Given the description of an element on the screen output the (x, y) to click on. 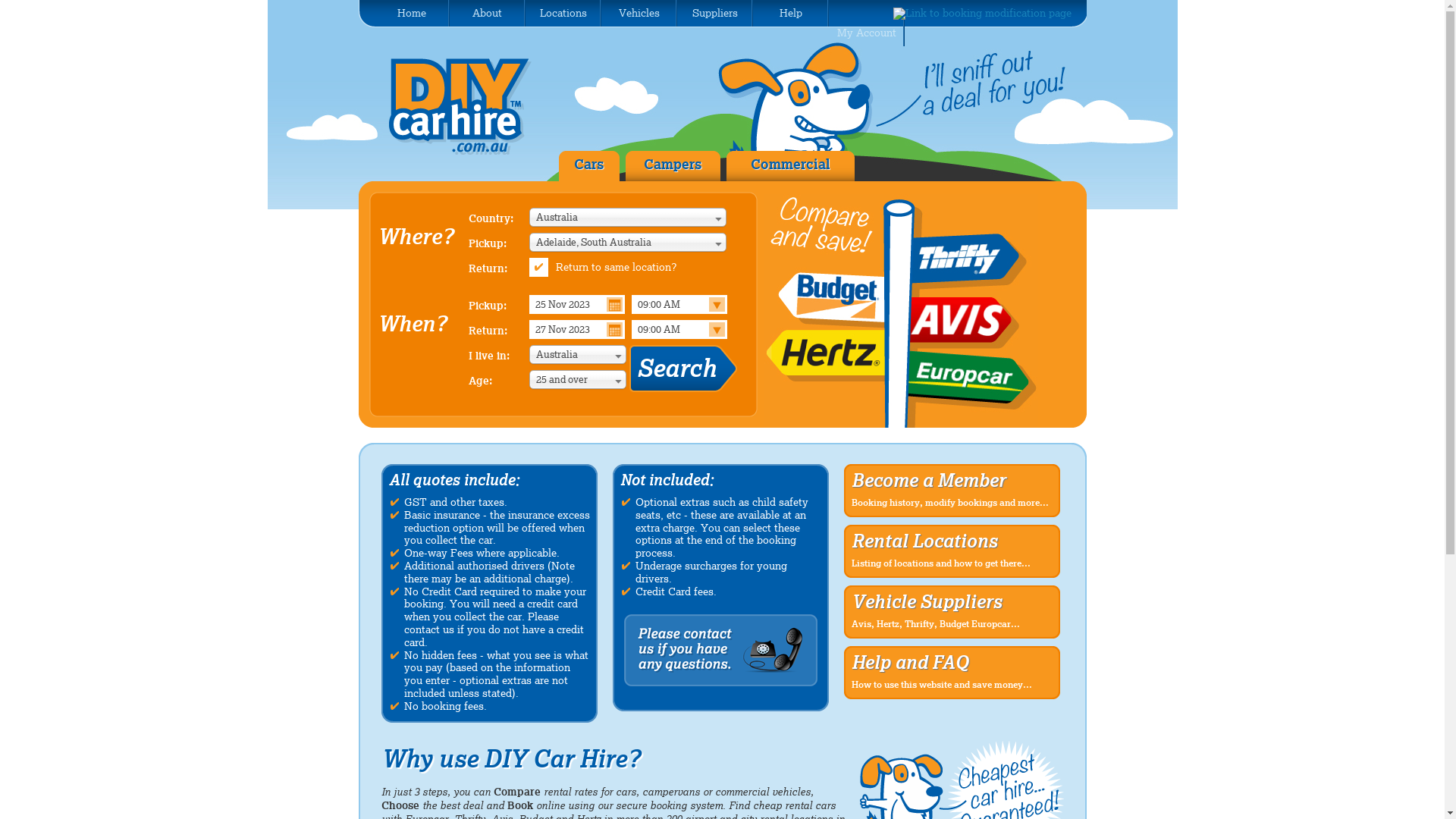
Listing of locations and how to get there... Element type: text (939, 563)
Commercial Element type: text (790, 164)
Avis, Hertz, Thrifty, Budget Europcar... Element type: text (934, 623)
Cars Element type: text (588, 164)
Link to DIY Car Hire Australia home page Element type: hover (470, 151)
Link to DIY Car Hire Australia home page Element type: hover (470, 106)
Adelaide, South Australia Element type: text (627, 241)
Campers Element type: text (672, 164)
Australia Element type: text (627, 216)
Booking history, modify bookings and more... Element type: text (949, 502)
How to use this website and save money... Element type: text (940, 684)
Contact Us Element type: hover (720, 657)
25 and over Element type: text (577, 379)
Australia Element type: text (577, 354)
Link to booking modification page Element type: hover (982, 12)
My Account Element type: text (866, 29)
